Given the description of an element on the screen output the (x, y) to click on. 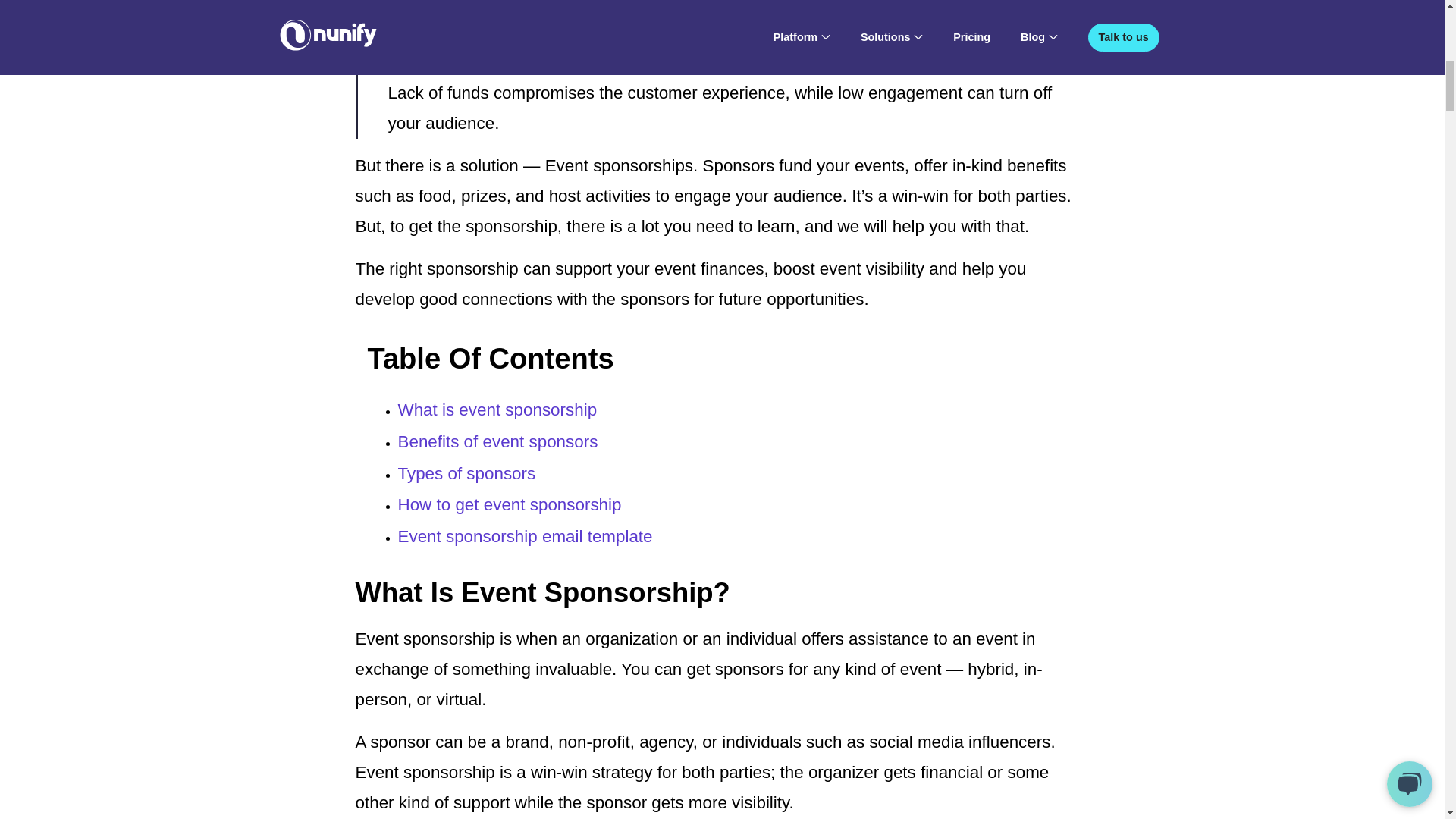
Benefits of event sponsors (496, 441)
What is event sponsorship (496, 409)
How to get event sponsorship (509, 504)
Event sponsorship email template (524, 536)
Types of sponsors (466, 473)
